Given the description of an element on the screen output the (x, y) to click on. 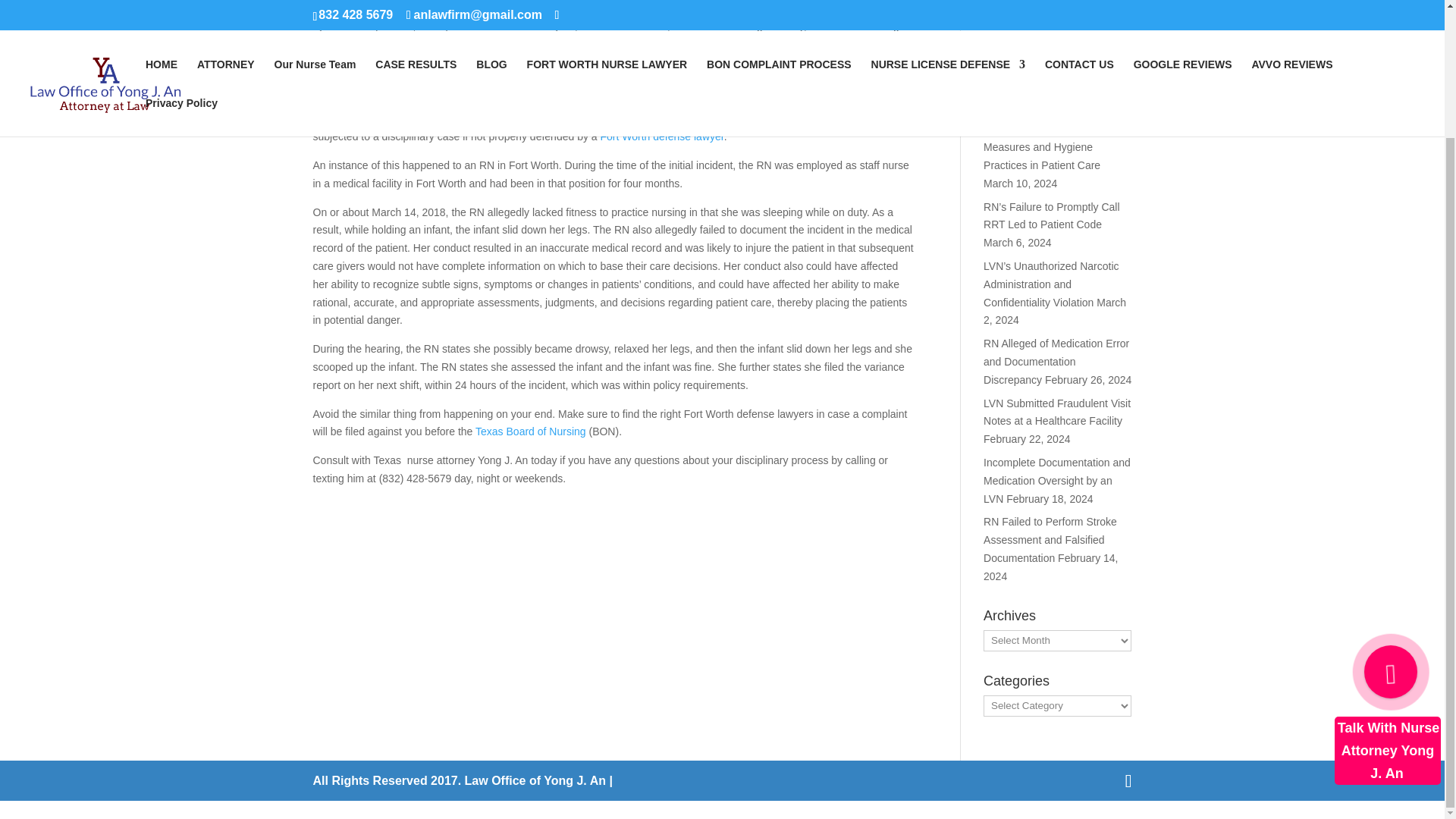
Posts by anlawfirm (349, 25)
Search (1106, 8)
